Given the description of an element on the screen output the (x, y) to click on. 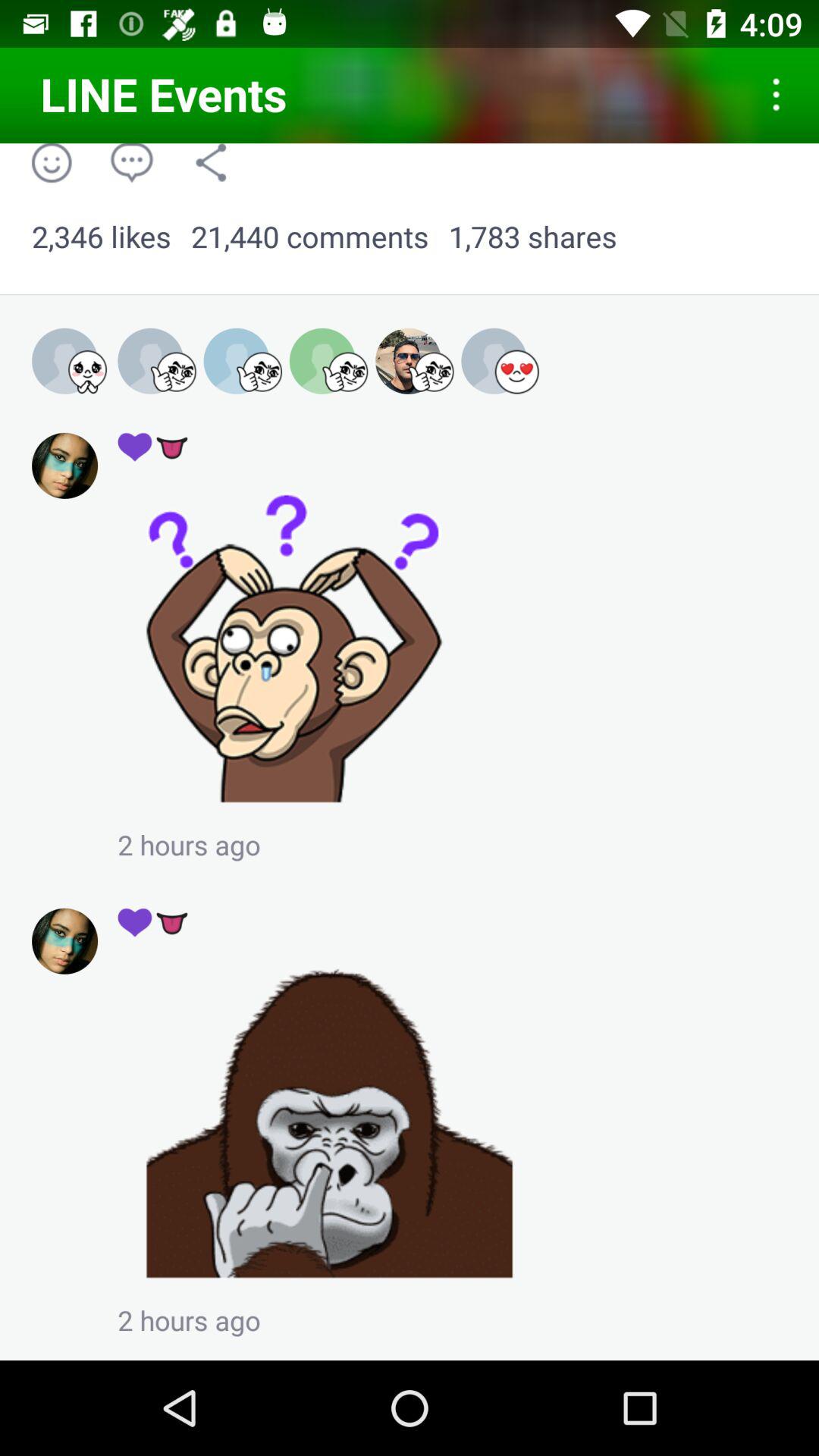
move to the second symbol in the second line below the text 2346 likes (153, 446)
click on 4th image (329, 362)
select third emoji (259, 371)
select the fifth profile icon (415, 362)
click on the third emoji from left (243, 362)
click last contact icon in the end of the page (64, 941)
select the emoji which is beside second emoji (71, 362)
